Given the description of an element on the screen output the (x, y) to click on. 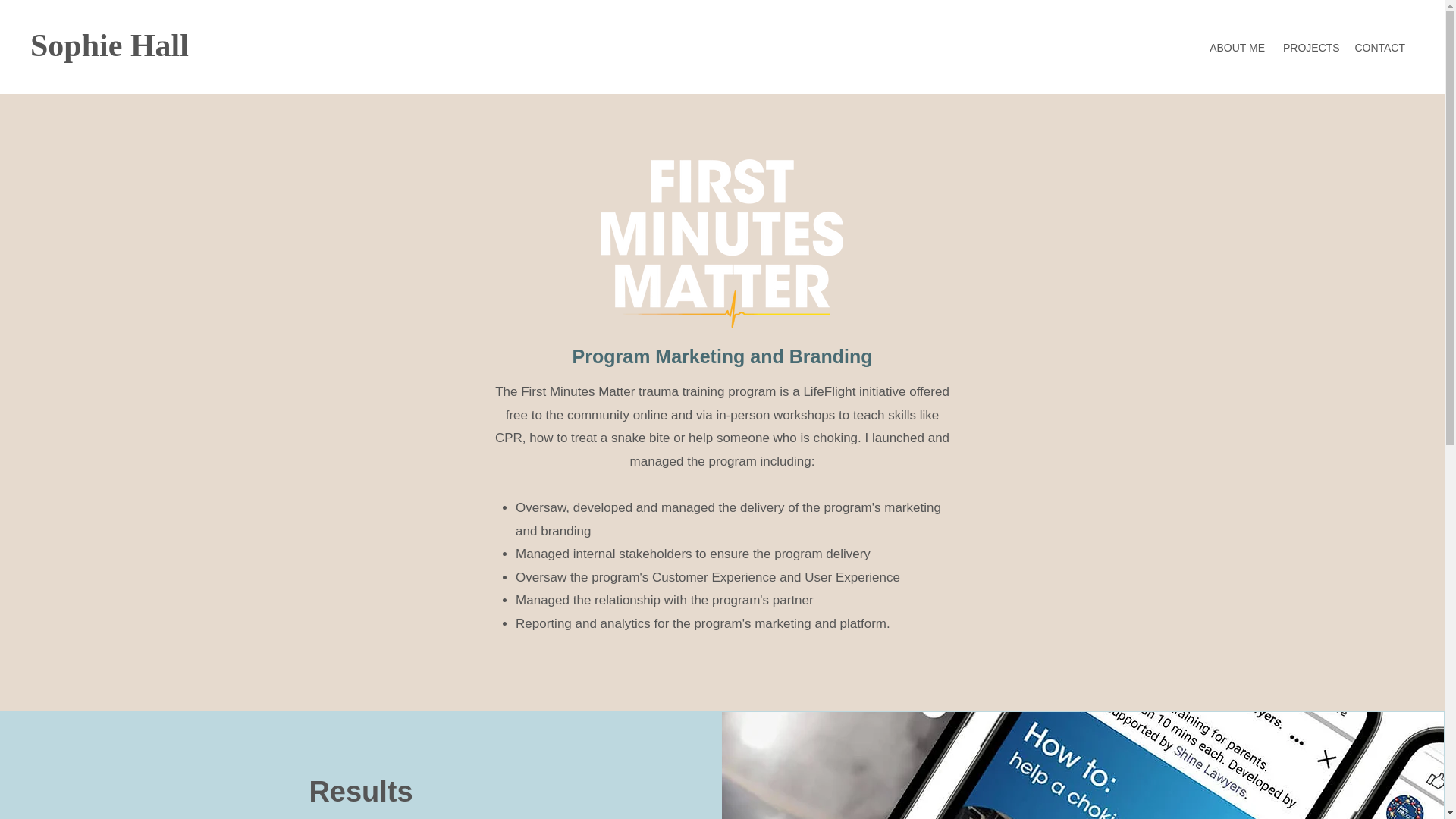
PROJECTS (1308, 40)
Sophie Hall (109, 45)
ABOUT ME (1236, 40)
CONTACT (1378, 40)
